Given the description of an element on the screen output the (x, y) to click on. 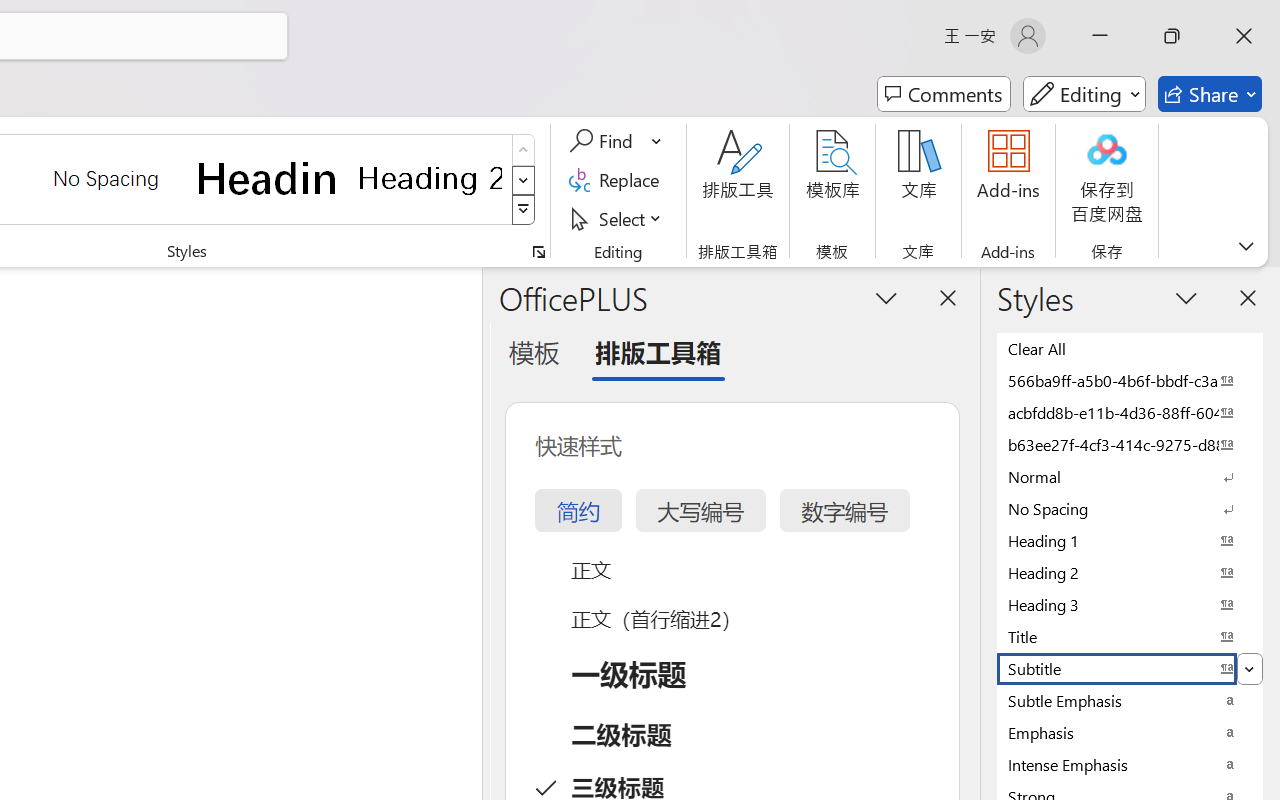
Ribbon Display Options (1246, 245)
Mode (1083, 94)
Find (604, 141)
Heading 1 (267, 178)
Heading 2 (429, 178)
Row Down (523, 180)
Emphasis (1130, 732)
Task Pane Options (886, 297)
Normal (1130, 476)
